Given the description of an element on the screen output the (x, y) to click on. 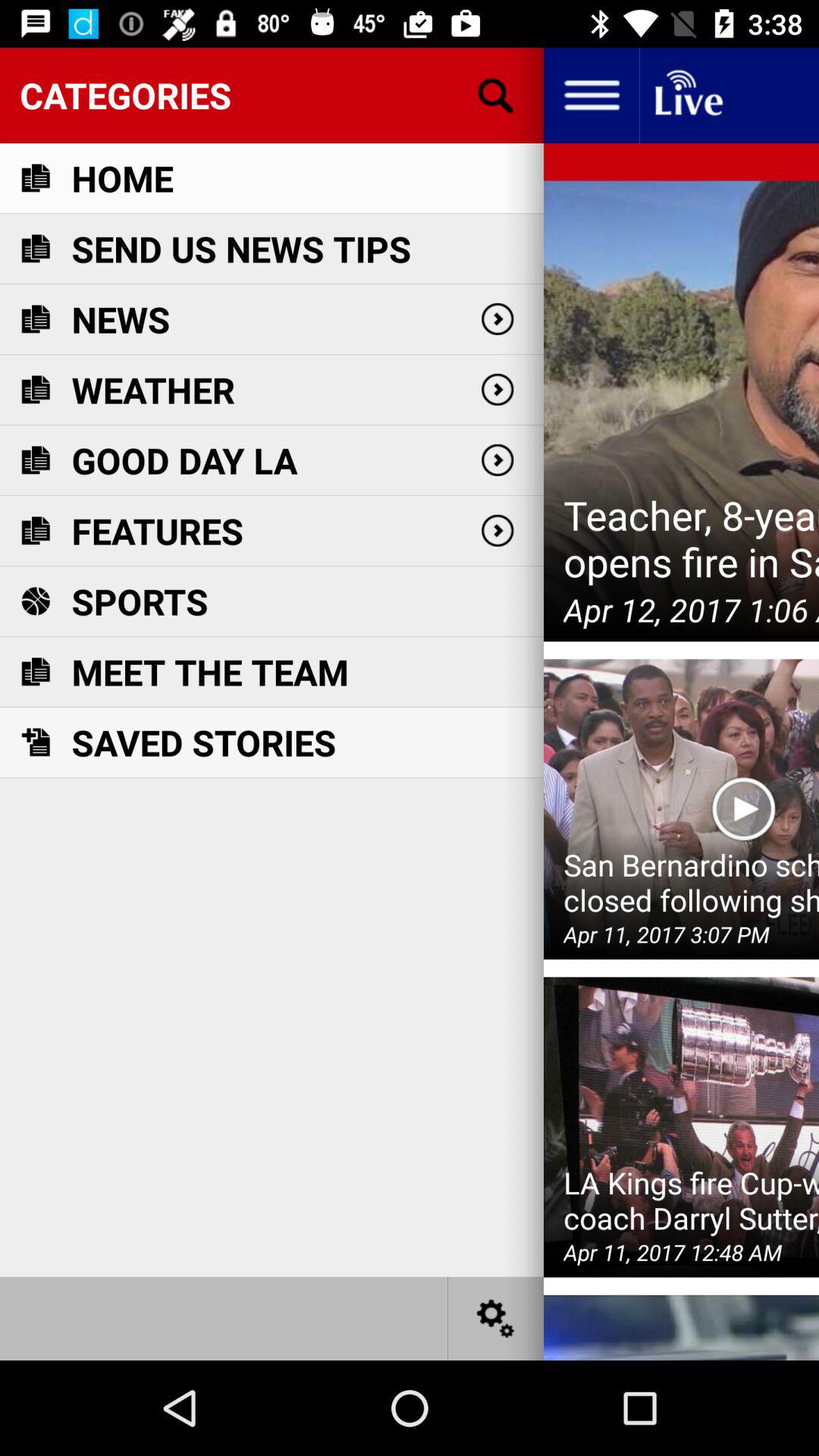
launch icon next to meet the team item (681, 809)
